Given the description of an element on the screen output the (x, y) to click on. 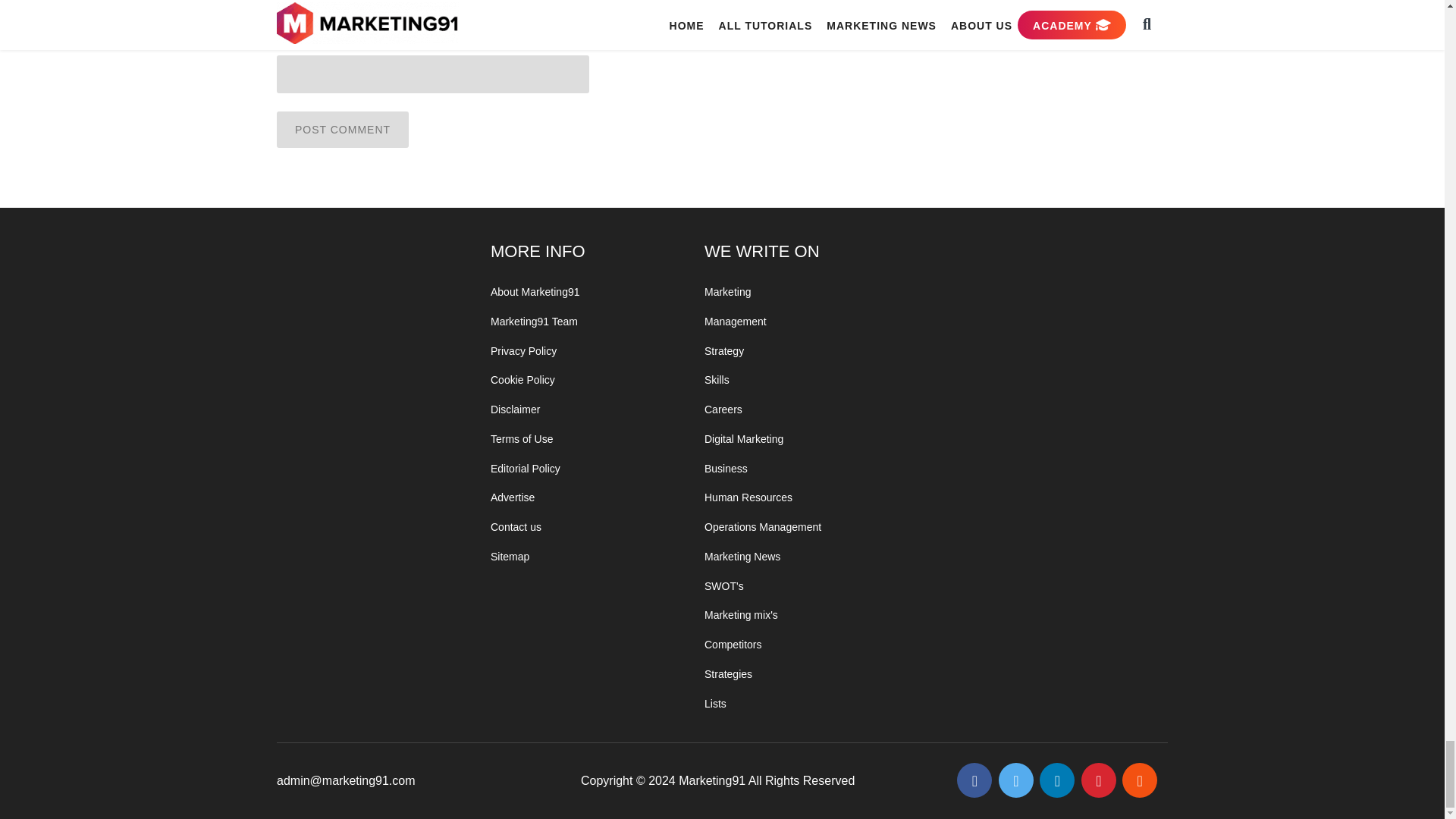
Post Comment (342, 129)
